Given the description of an element on the screen output the (x, y) to click on. 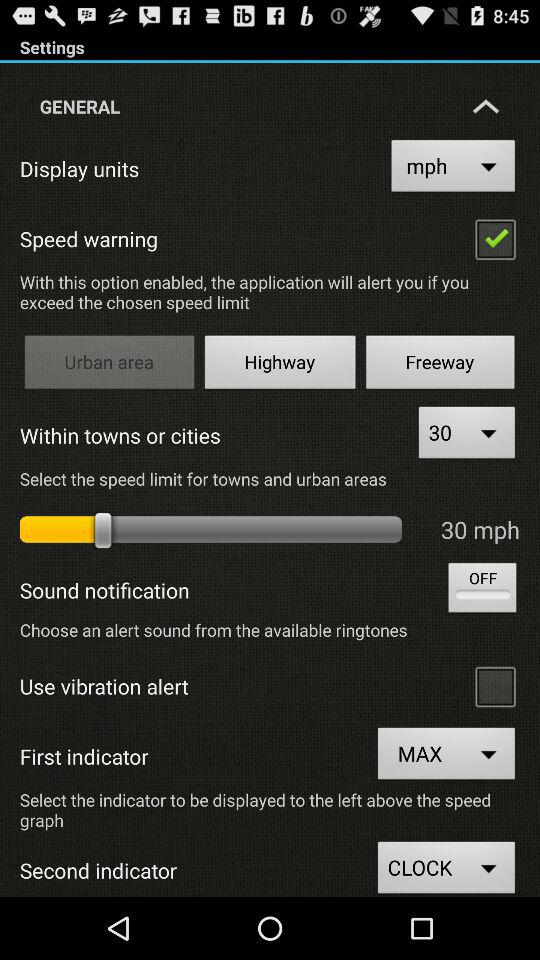
deselect an item (495, 238)
